Given the description of an element on the screen output the (x, y) to click on. 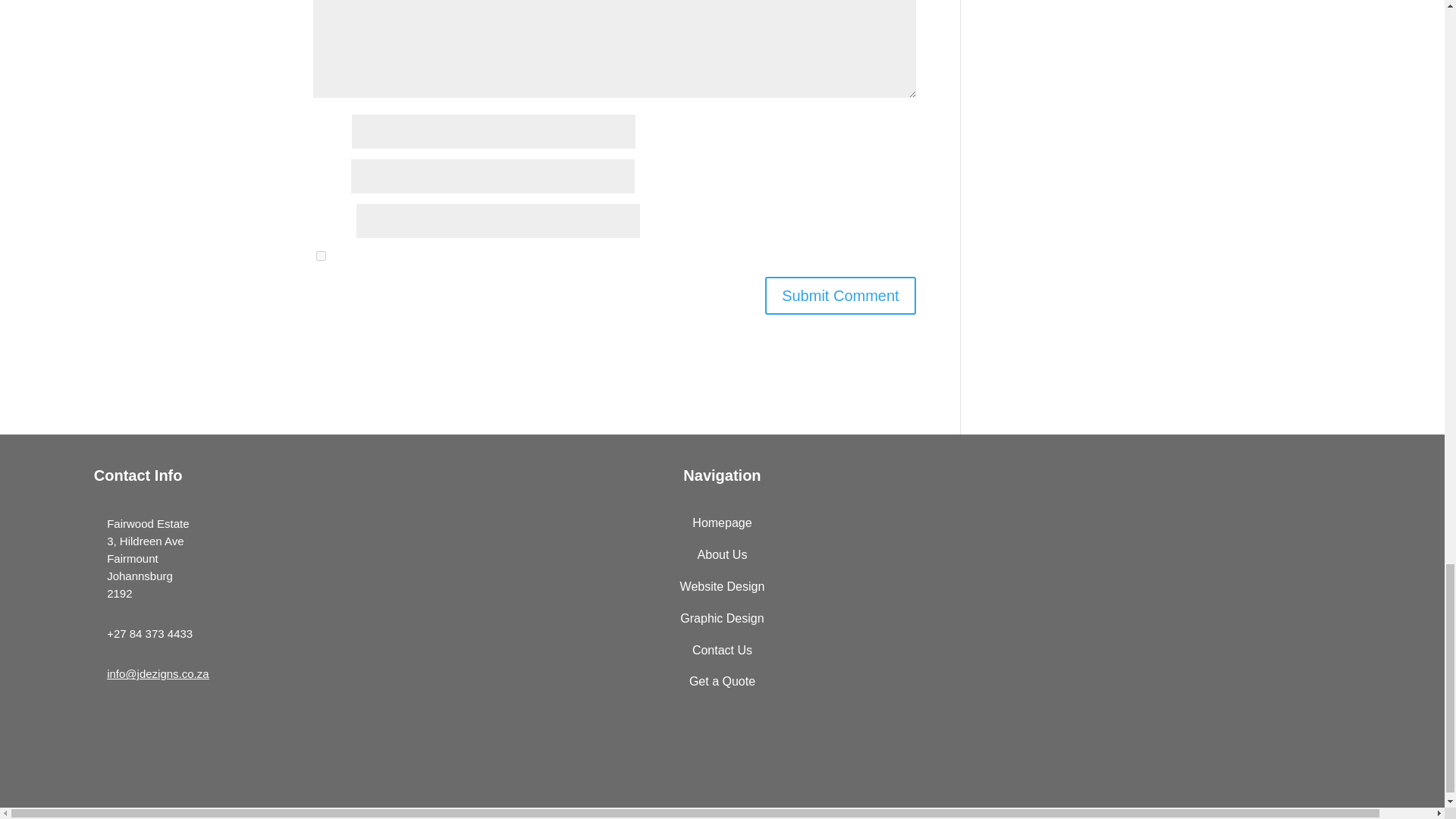
Homepage (722, 522)
Graphic Design (720, 617)
Contact Us (722, 649)
Website Design (722, 586)
About Us (722, 554)
yes (319, 255)
Submit Comment (840, 295)
Submit Comment (840, 295)
